Given the description of an element on the screen output the (x, y) to click on. 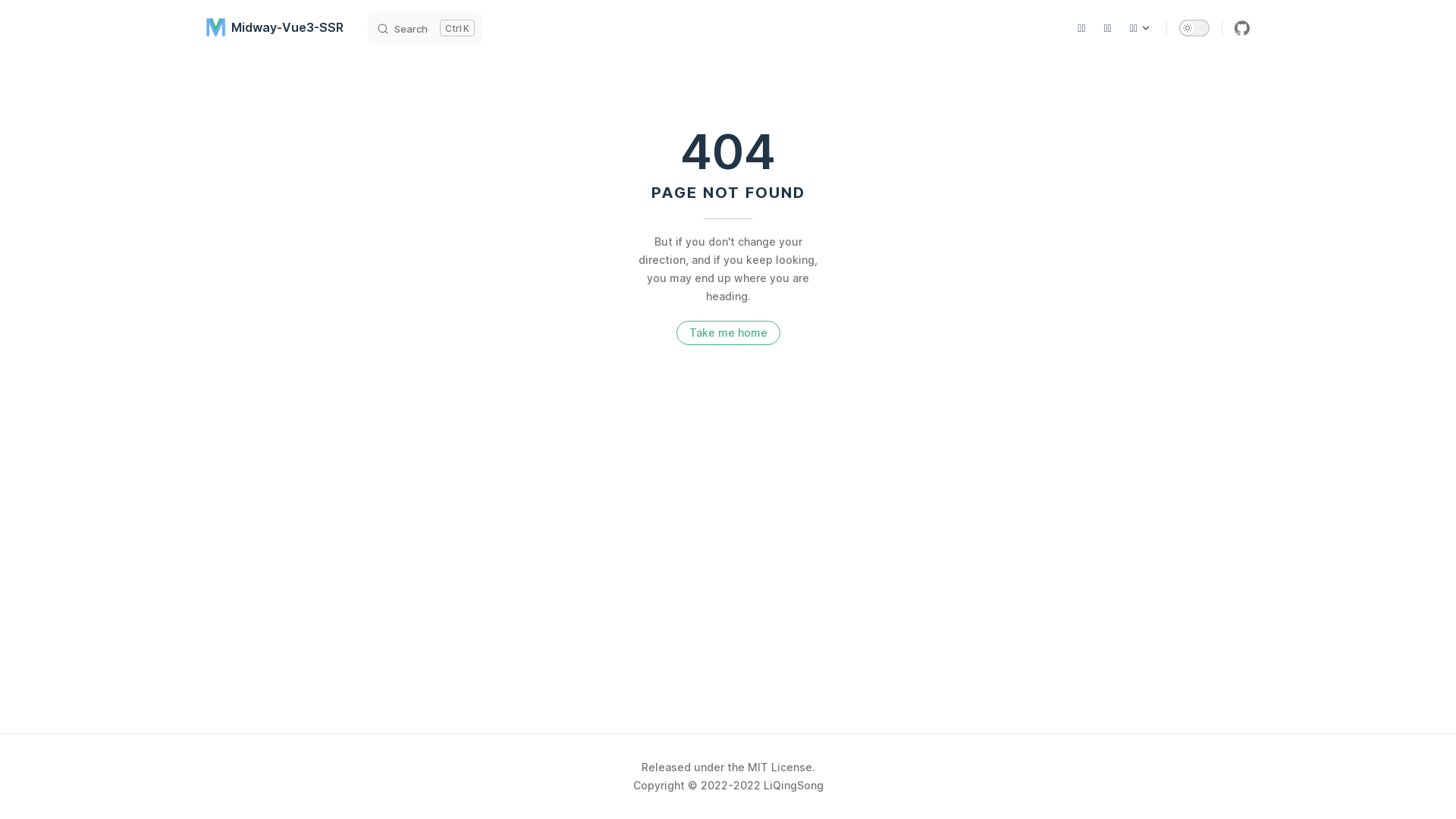
Search
Ctrl
K Element type: text (425, 27)
Skip to content Element type: text (24, 16)
Midway-Vue3-SSR Element type: text (274, 27)
Take me home Element type: text (728, 332)
github Element type: text (1241, 26)
